Given the description of an element on the screen output the (x, y) to click on. 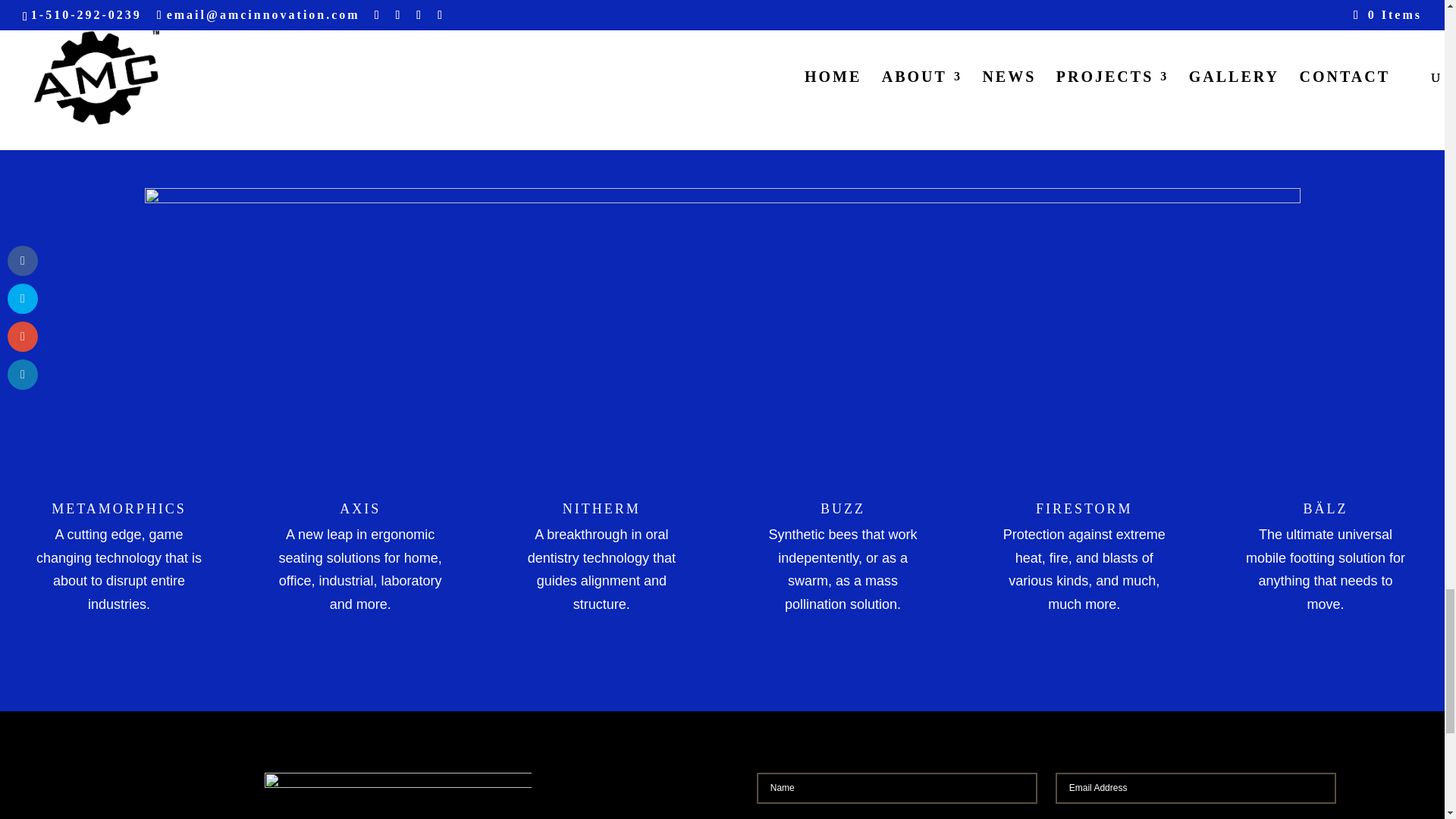
AMC STAMP LOGO rev 3 white (397, 796)
